Given the description of an element on the screen output the (x, y) to click on. 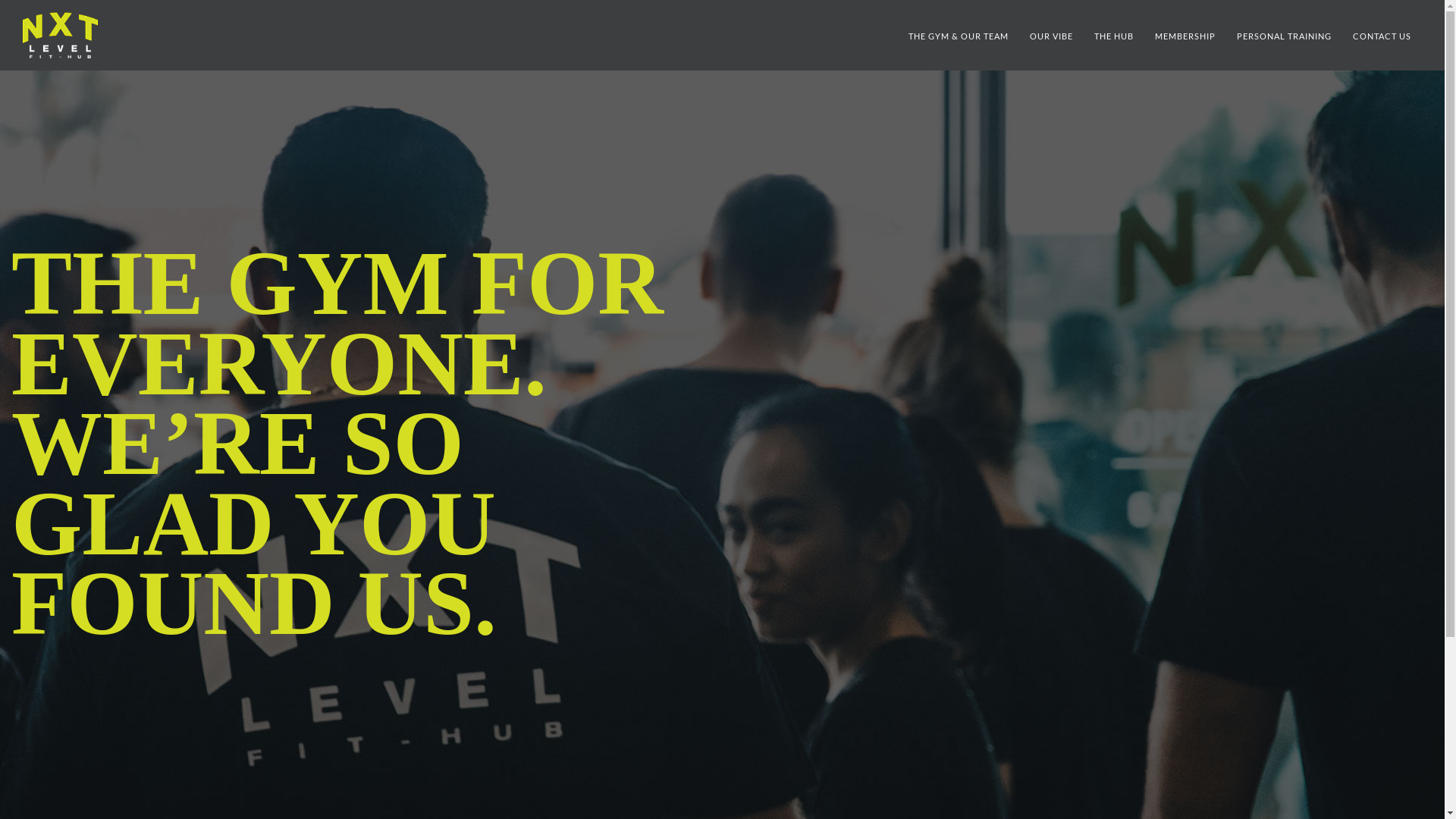
CONTACT US Element type: text (1381, 36)
OUR VIBE Element type: text (1051, 36)
THE GYM & OUR TEAM Element type: text (958, 36)
PERSONAL TRAINING Element type: text (1284, 36)
Fitness Hub Element type: hover (59, 34)
THE HUB Element type: text (1113, 36)
MEMBERSHIP Element type: text (1185, 36)
